Given the description of an element on the screen output the (x, y) to click on. 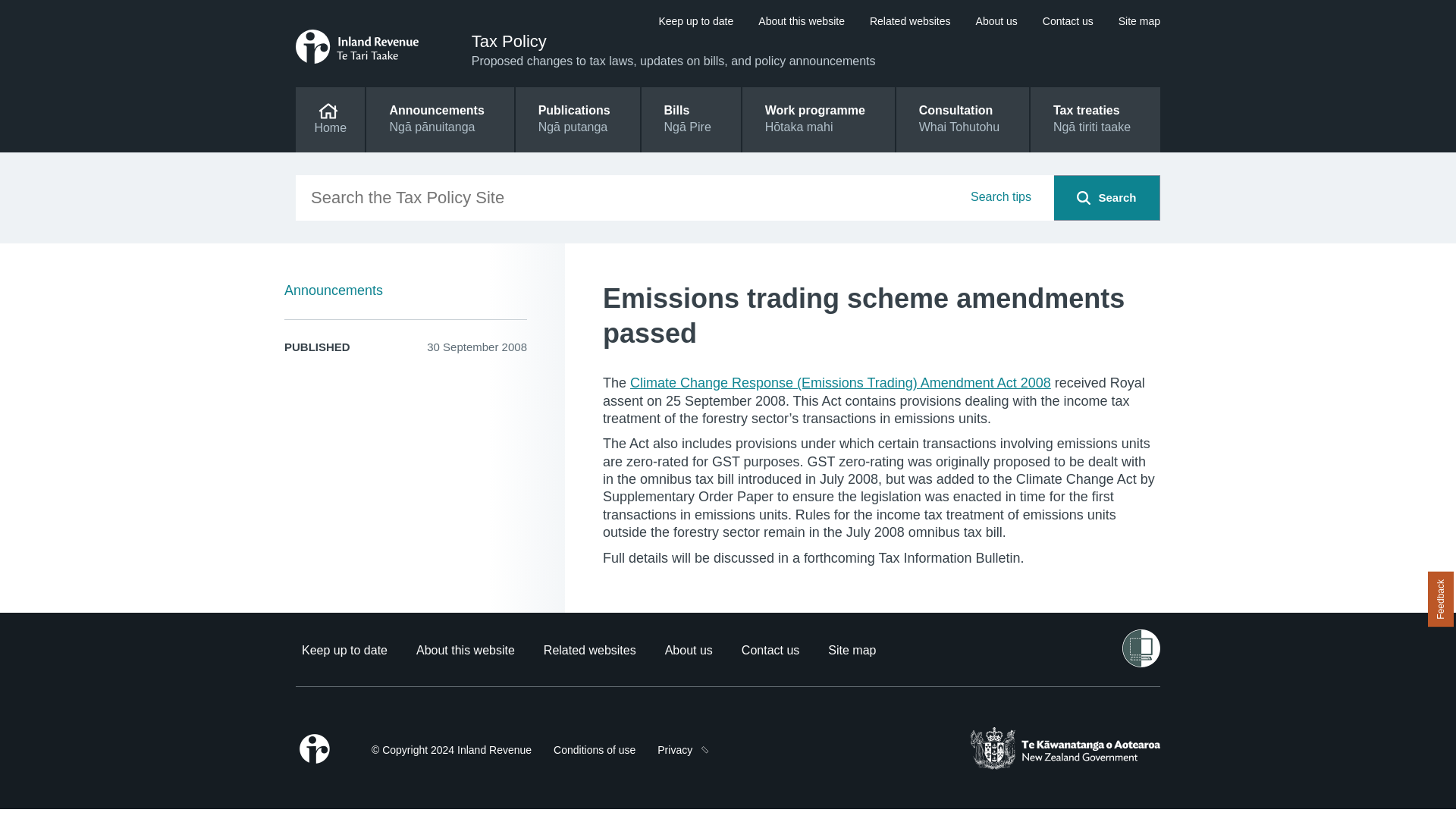
About this website (465, 649)
About this website (465, 649)
Insert a query. Press enter to send (674, 197)
Keep up to date (695, 21)
Related websites (589, 649)
Conditions of use (593, 749)
Contact us (770, 649)
Site map (1139, 21)
About us (996, 21)
Search (1083, 197)
Contact us (1067, 21)
About this website (801, 21)
Contact us (1067, 21)
Home (330, 119)
Site map (852, 649)
